Given the description of an element on the screen output the (x, y) to click on. 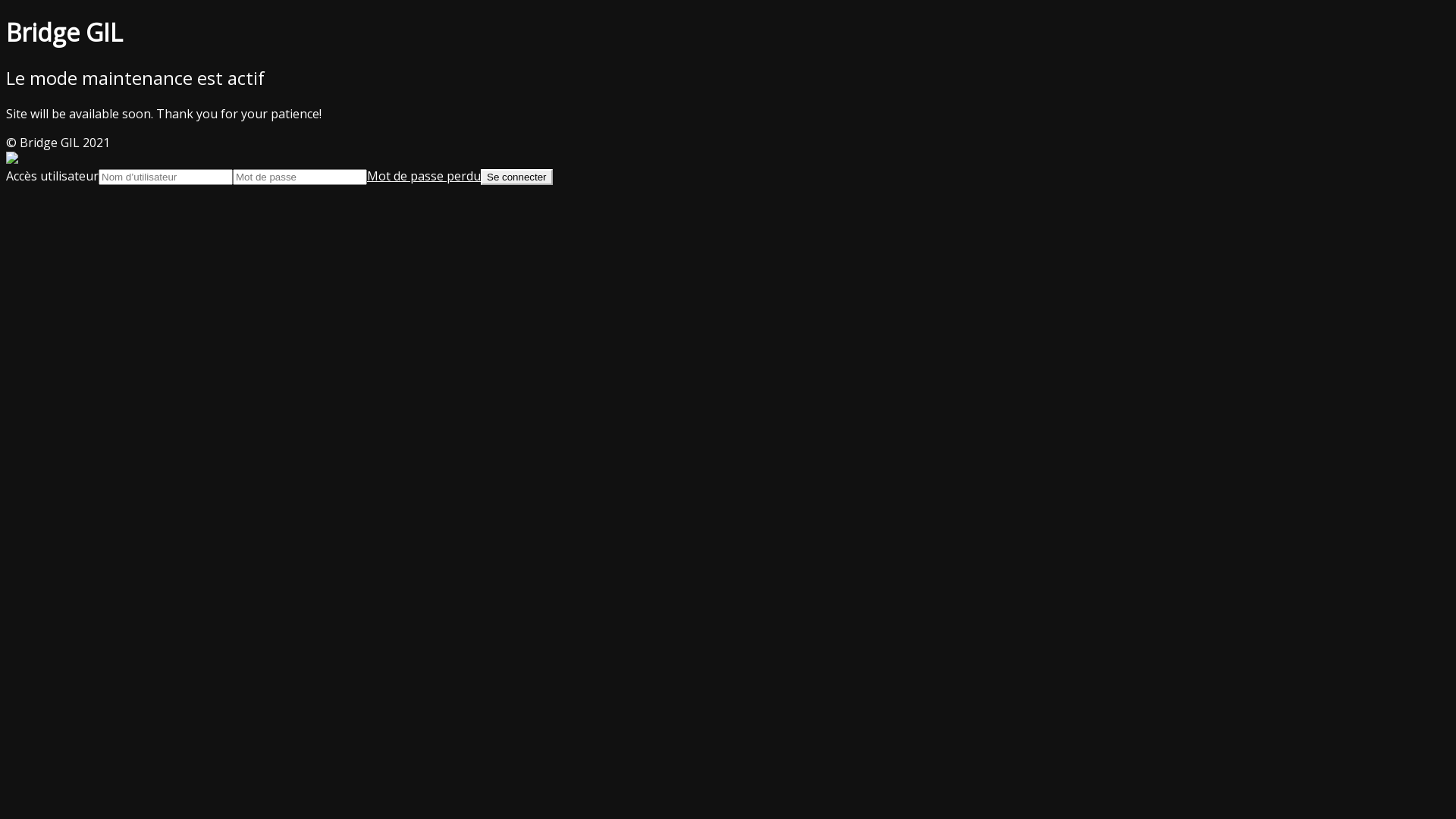
Se connecter Element type: text (516, 177)
Mot de passe perdu Element type: text (423, 175)
